Given the description of an element on the screen output the (x, y) to click on. 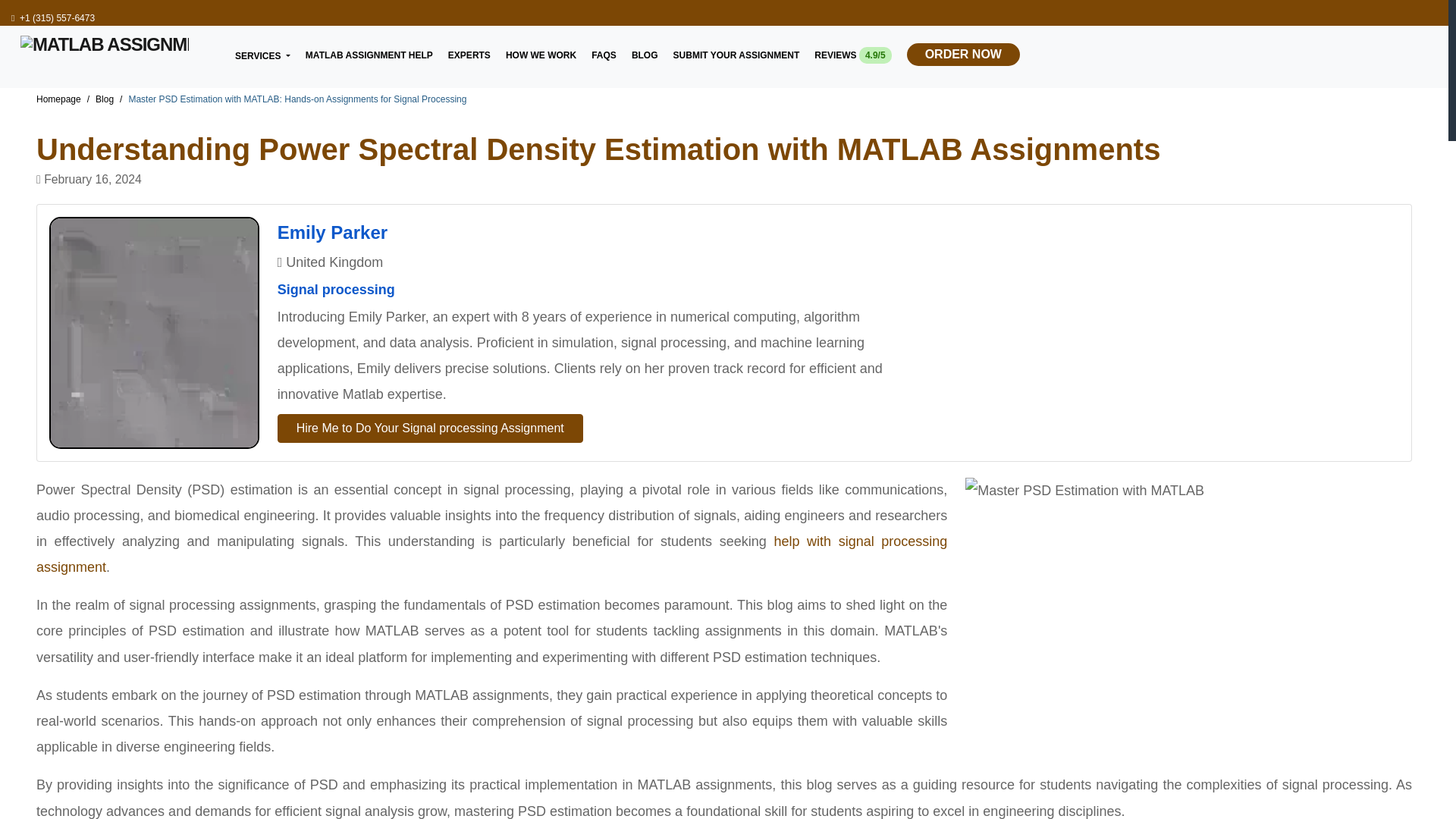
SERVICES (261, 55)
